Given the description of an element on the screen output the (x, y) to click on. 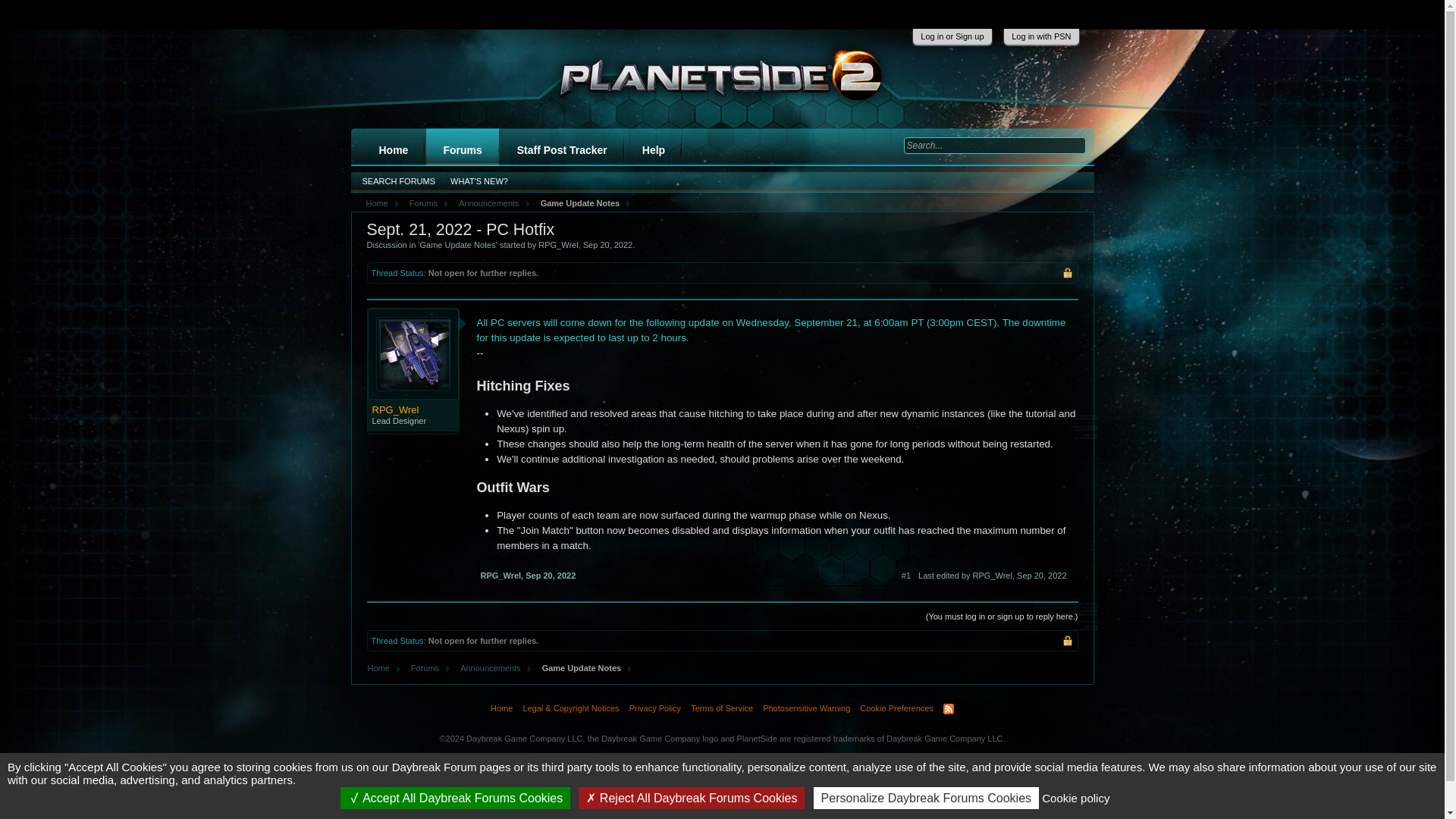
Game Update Notes (577, 203)
Log in with PSN (1040, 35)
SEARCH FORUMS (399, 181)
Help (653, 149)
Game Update Notes (457, 244)
Staff Post Tracker (562, 149)
Announcements (487, 668)
Enter your search and hit enter (995, 145)
Forums (420, 203)
Log in or Sign up (952, 35)
Sep 20, 2022 (550, 574)
Sep 20, 2022 at 4:06 PM (607, 244)
Sep 20, 2022 (607, 244)
Permalink (550, 574)
Home (376, 203)
